Given the description of an element on the screen output the (x, y) to click on. 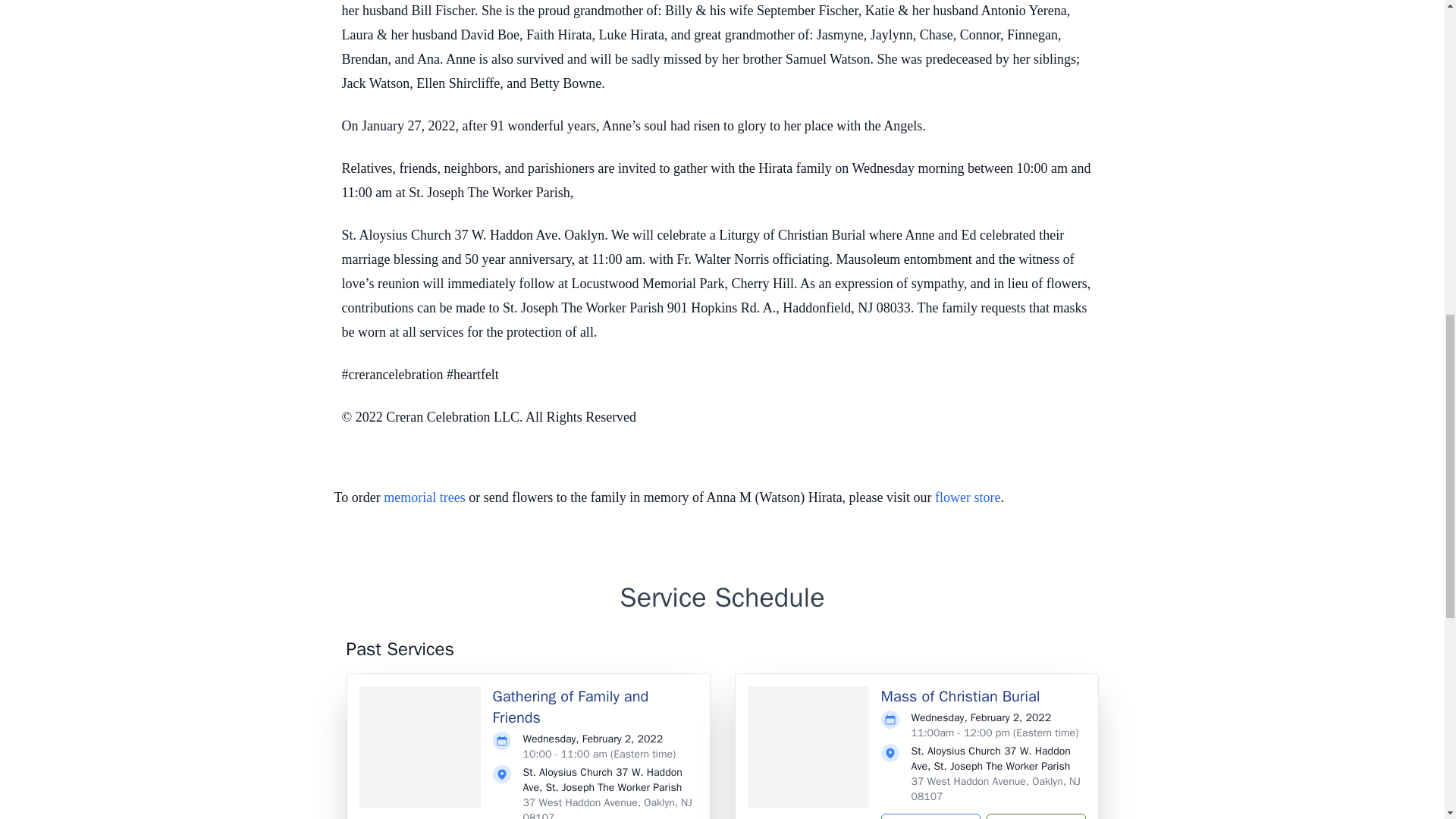
37 West Haddon Avenue, Oaklyn, NJ 08107 (607, 807)
Plant Trees (1034, 816)
flower store (967, 497)
memorial trees (424, 497)
Text Directions (929, 816)
37 West Haddon Avenue, Oaklyn, NJ 08107 (995, 788)
